Given the description of an element on the screen output the (x, y) to click on. 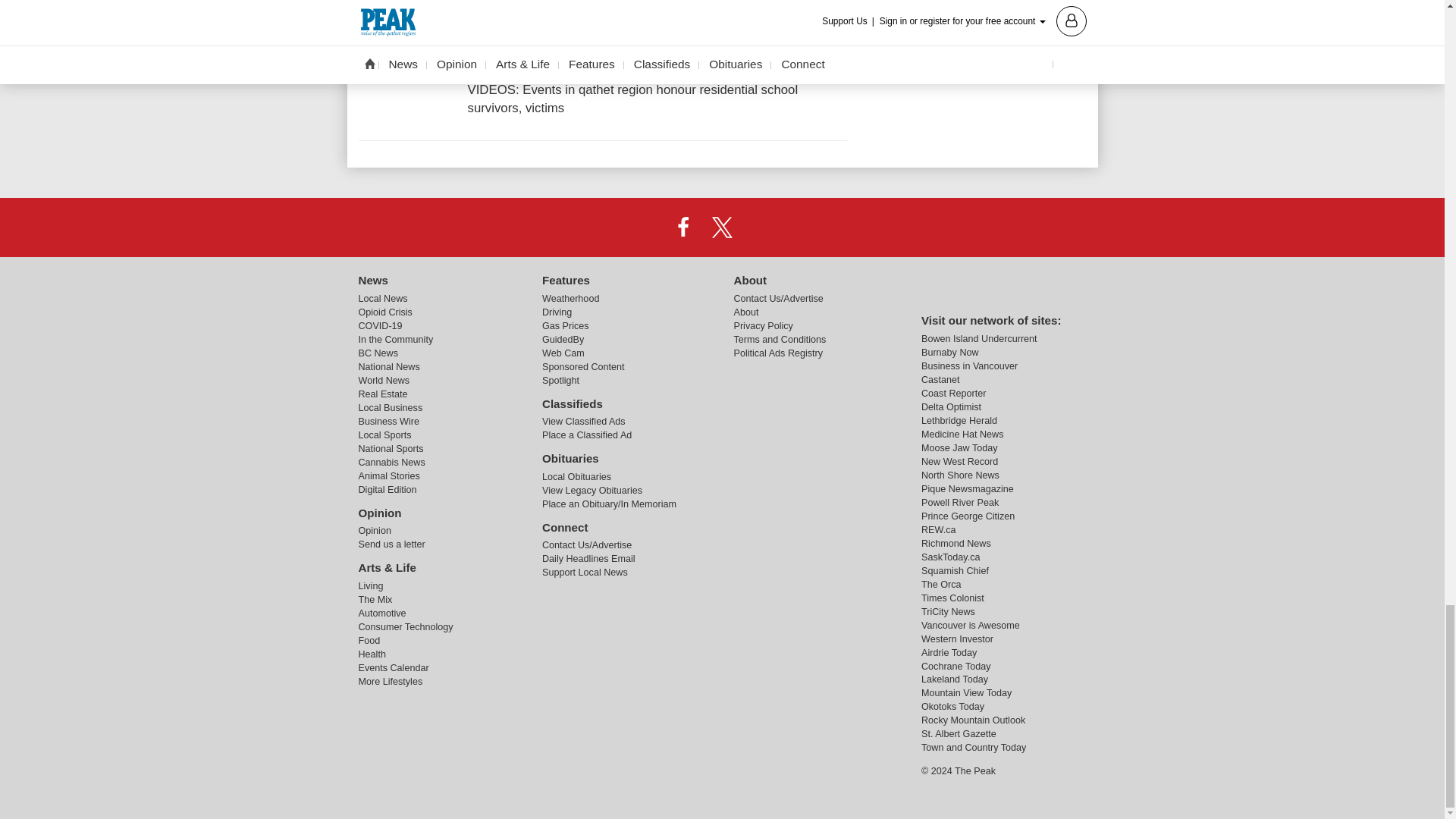
X (721, 226)
Instagram (760, 226)
Facebook (683, 226)
